Given the description of an element on the screen output the (x, y) to click on. 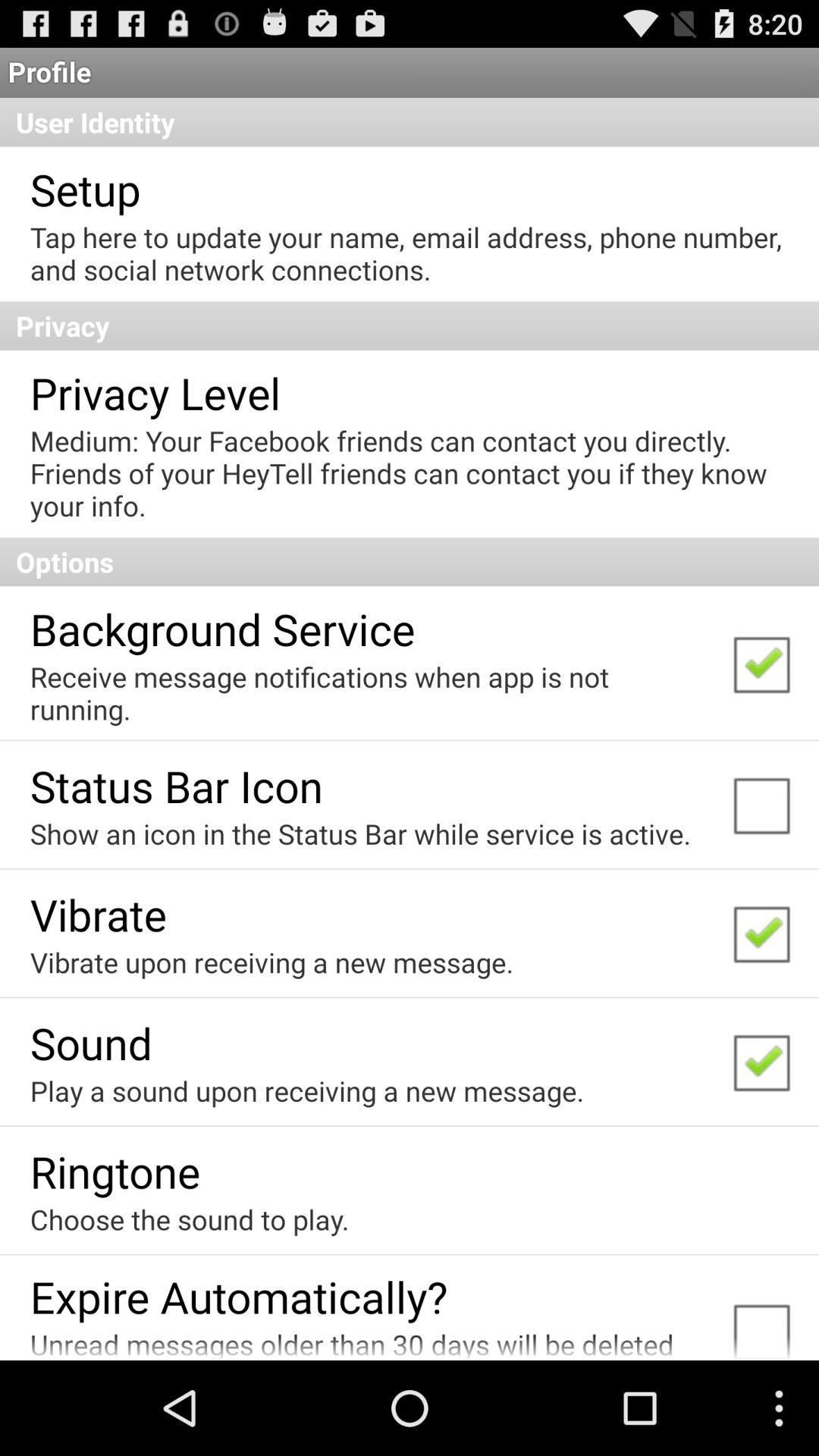
click icon below status bar icon icon (360, 833)
